Given the description of an element on the screen output the (x, y) to click on. 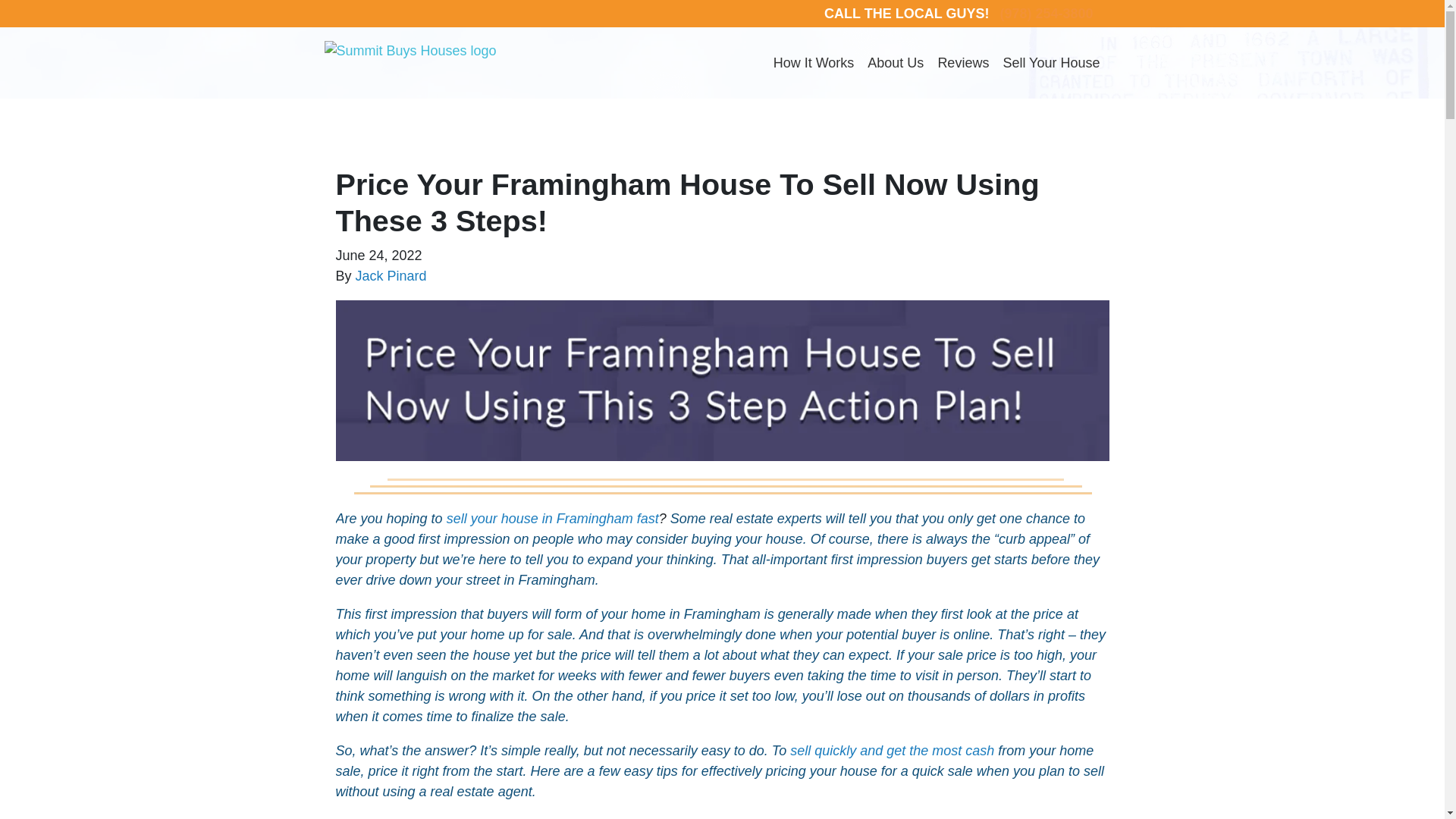
How It Works (814, 62)
sell your house in Framingham fast (552, 518)
sell quickly and get the most cash (892, 750)
About Us (895, 62)
Sell Your House (1050, 62)
How It Works (814, 62)
Jack Pinard (390, 275)
Reviews (962, 62)
About Us (895, 62)
Reviews (962, 62)
Sell Your House (1050, 62)
